Given the description of an element on the screen output the (x, y) to click on. 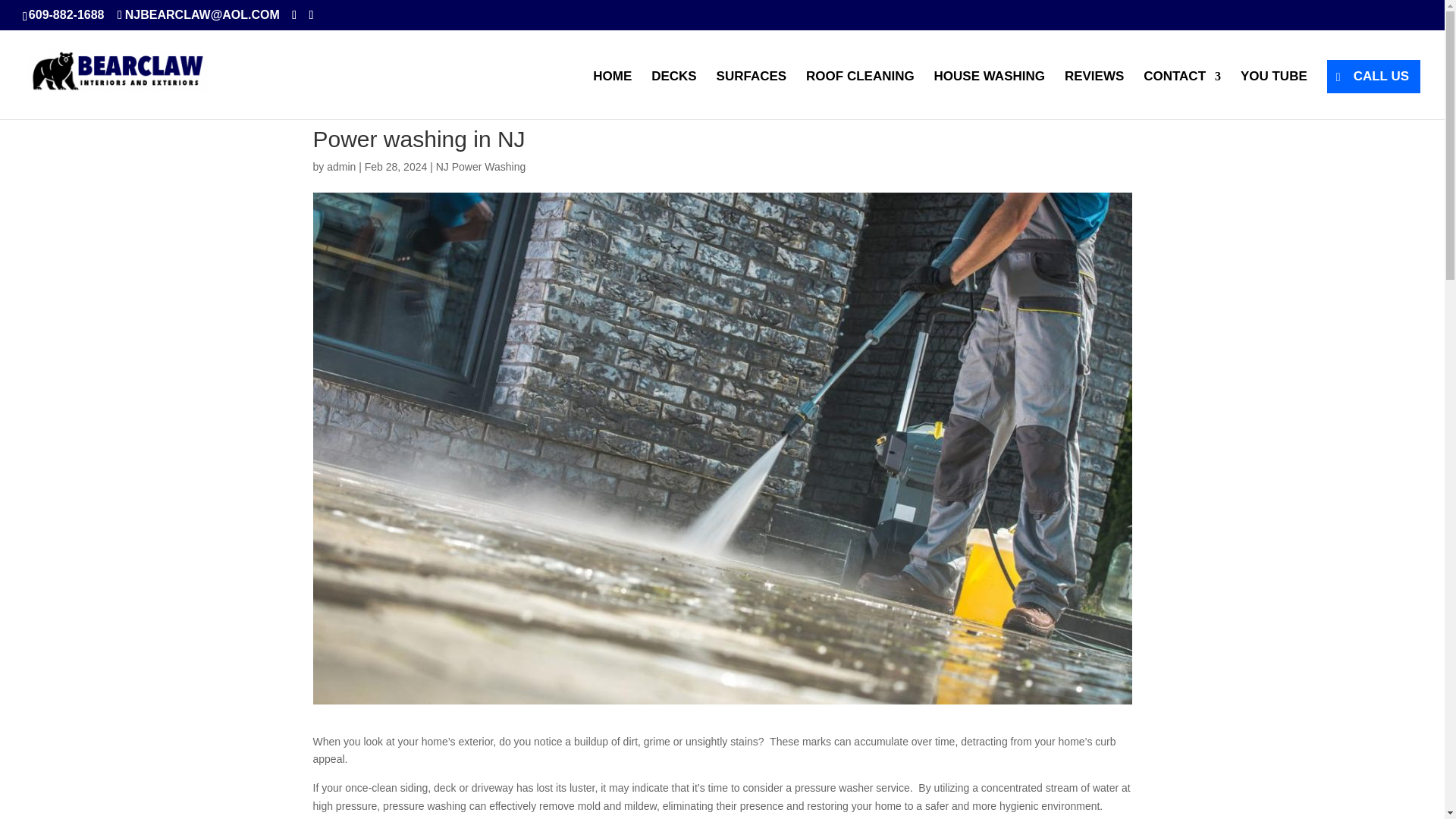
YOU TUBE (1273, 94)
NJ Power Washing (480, 166)
ROOF CLEANING (860, 94)
Posts by admin (340, 166)
CONTACT (1181, 94)
HOUSE WASHING (989, 94)
CALL US (1373, 76)
REVIEWS (1094, 94)
SURFACES (751, 94)
DECKS (673, 94)
